Given the description of an element on the screen output the (x, y) to click on. 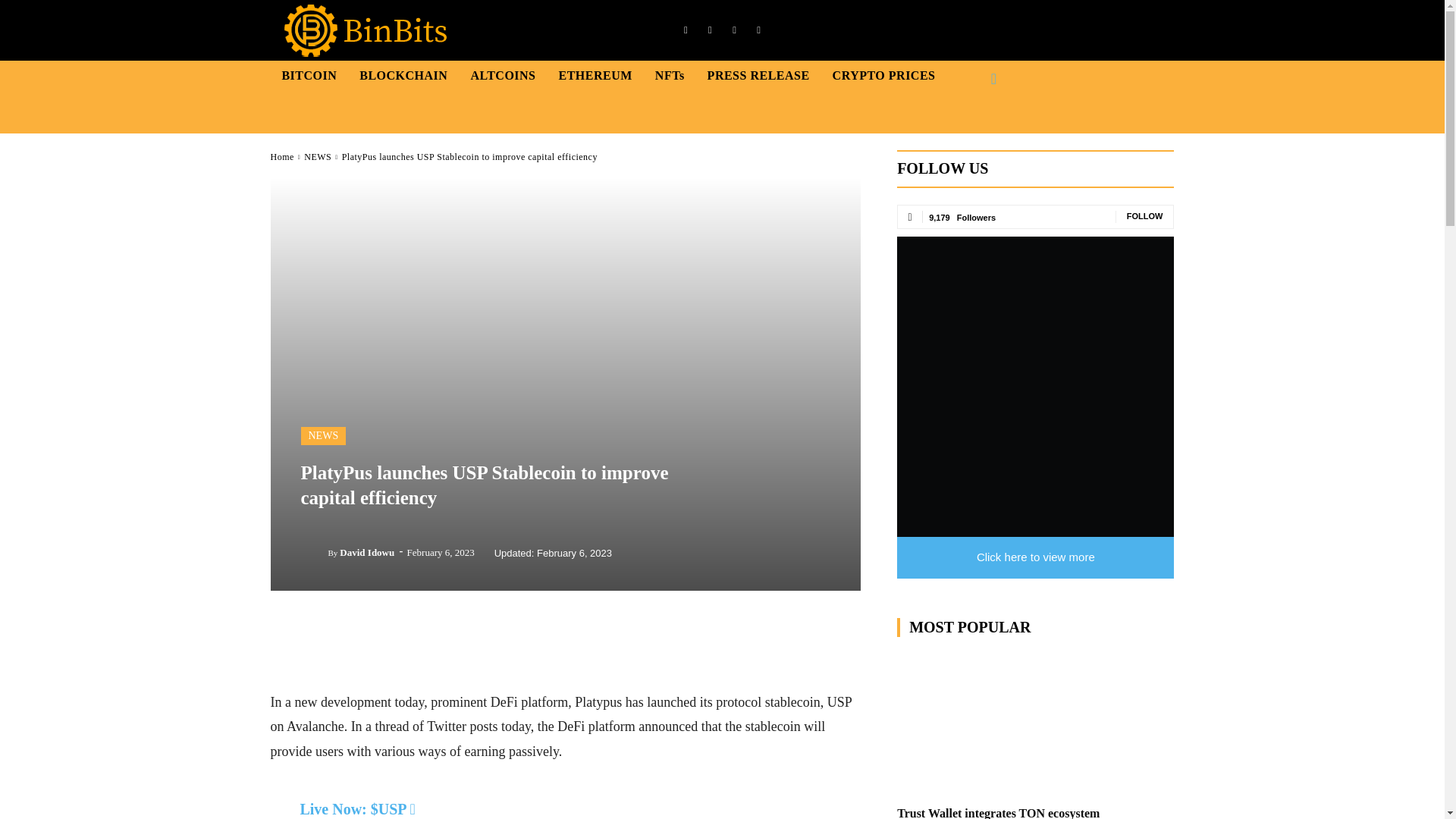
FOLLOW (1144, 215)
David Idowu (366, 552)
Facebook (685, 30)
BITCOIN (309, 75)
Twitter (759, 30)
Instagram (709, 30)
David Idowu (313, 552)
Telegram (733, 30)
NEWS (317, 156)
Click here to view more (1034, 557)
NEWS (322, 435)
NFTs (669, 75)
CRYPTO PRICES (883, 75)
PRESS RELEASE (758, 75)
BLOCKCHAIN (403, 75)
